Given the description of an element on the screen output the (x, y) to click on. 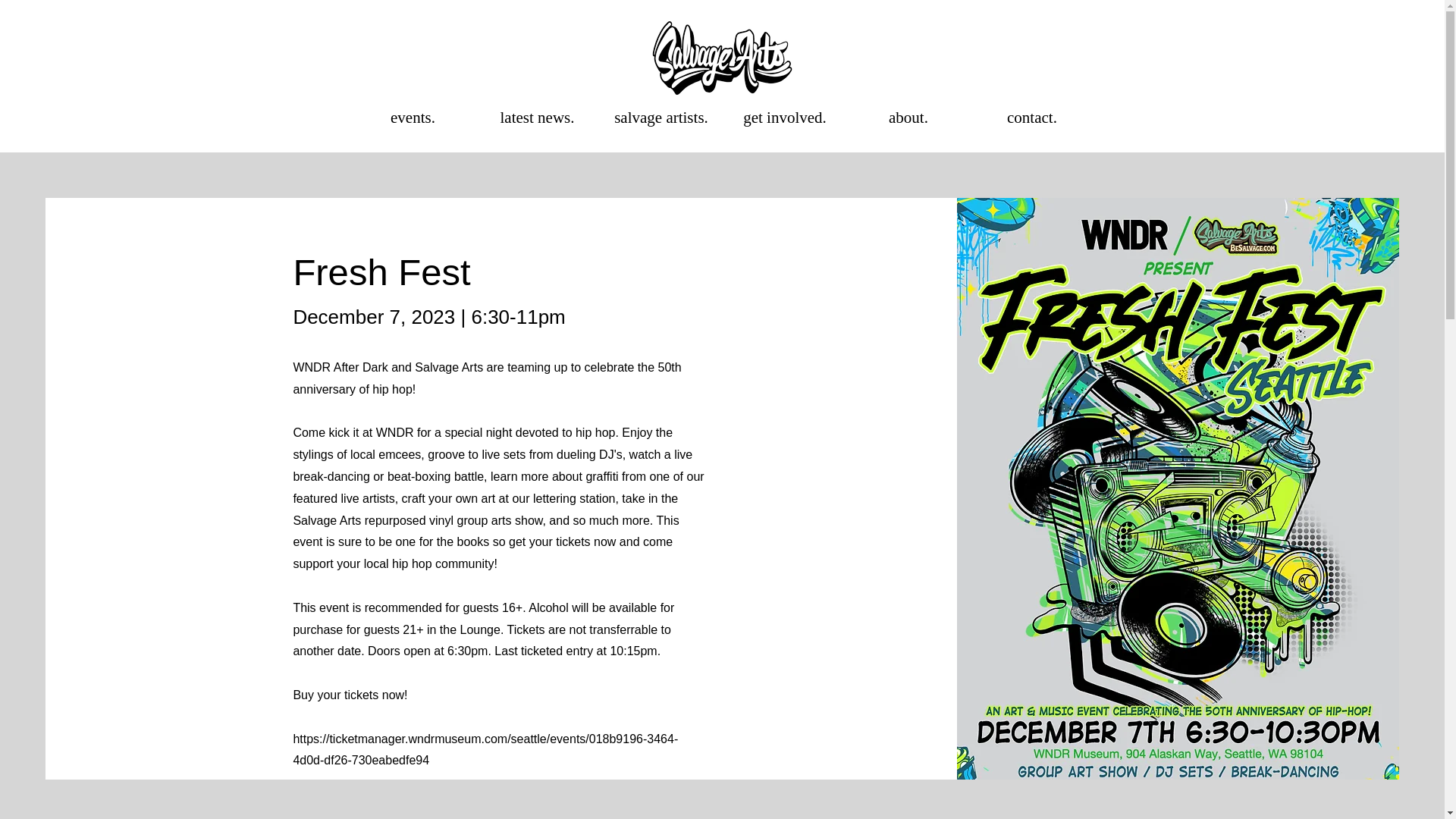
salvage artists. (660, 117)
get involved. (785, 117)
about. (907, 117)
events. (412, 117)
latest news. (536, 117)
contact. (1032, 117)
